Given the description of an element on the screen output the (x, y) to click on. 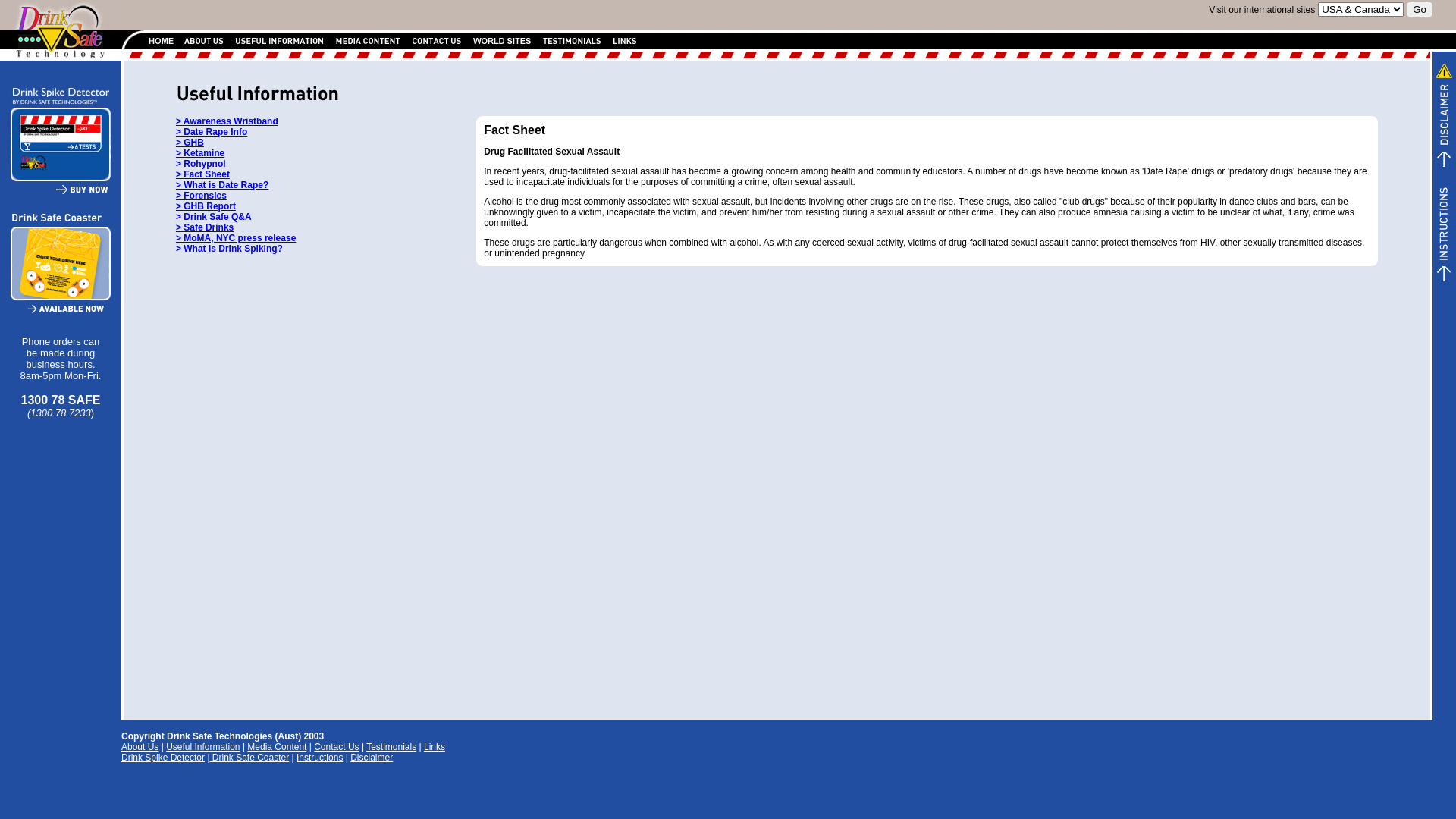
Drink Spike Detector Element type: text (162, 757)
About Us Element type: text (139, 746)
Links Element type: text (434, 746)
> MoMA, NYC press release Element type: text (235, 237)
Contact Us Element type: text (335, 746)
> What is Drink Spiking? Element type: text (228, 248)
> Forensics Element type: text (200, 195)
Testimonials Element type: text (391, 746)
> Fact Sheet Element type: text (202, 174)
Media Content Element type: text (276, 746)
Useful Information Element type: text (202, 746)
> Safe Drinks Element type: text (204, 227)
> Ketamine Element type: text (199, 152)
Drink Safe Coaster Element type: text (248, 757)
> Rohypnol Element type: text (200, 163)
> GHB Element type: text (189, 142)
Instructions Element type: text (319, 757)
Go Element type: text (1419, 9)
> Awareness Wristband Element type: text (226, 121)
> Date Rape Info Element type: text (211, 131)
Disclaimer Element type: text (371, 757)
> What is Date Rape? Element type: text (221, 184)
> GHB Report Element type: text (205, 205)
> Drink Safe Q&A Element type: text (213, 216)
